Given the description of an element on the screen output the (x, y) to click on. 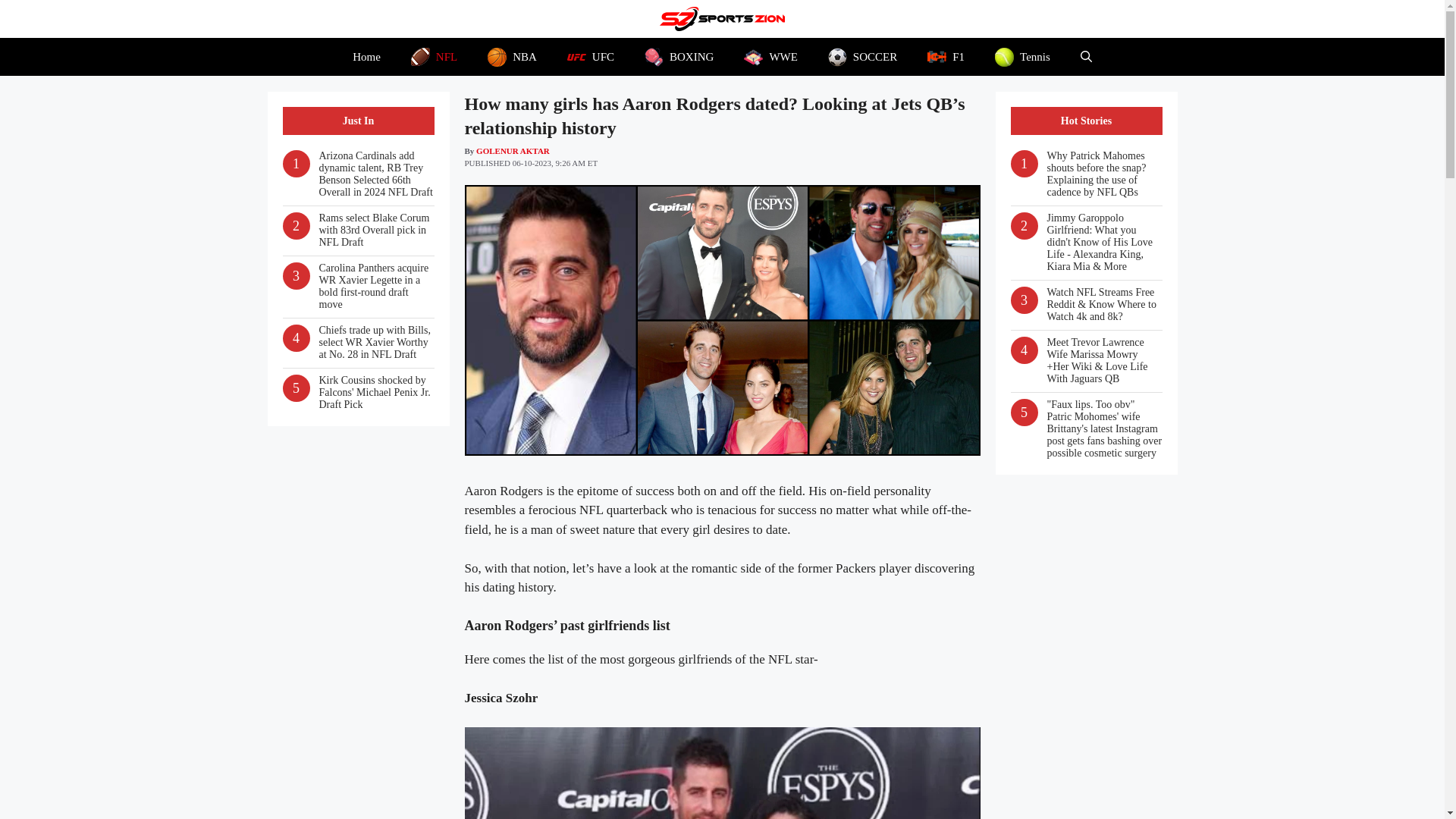
GOLENUR AKTAR (513, 149)
WWE (770, 56)
SOCCER (862, 56)
Tennis (1022, 56)
NFL (433, 56)
F1 (945, 56)
UFC (589, 56)
NBA (511, 56)
BOXING (678, 56)
View all posts by Golenur Aktar (513, 149)
